Given the description of an element on the screen output the (x, y) to click on. 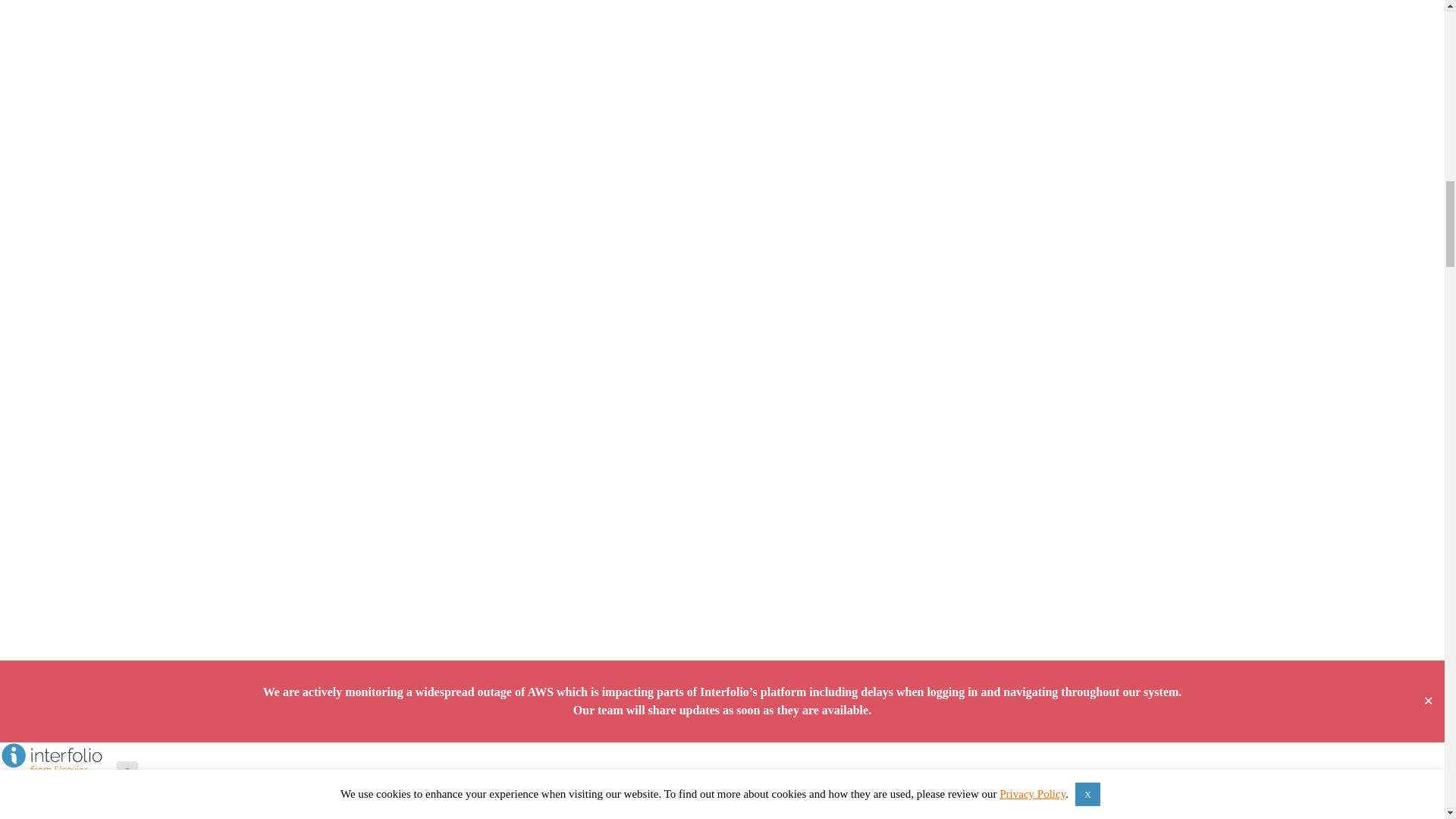
Solutions (25, 788)
Solutions (25, 788)
For Academic Institutions (79, 816)
For Academic Institutions (79, 816)
